Given the description of an element on the screen output the (x, y) to click on. 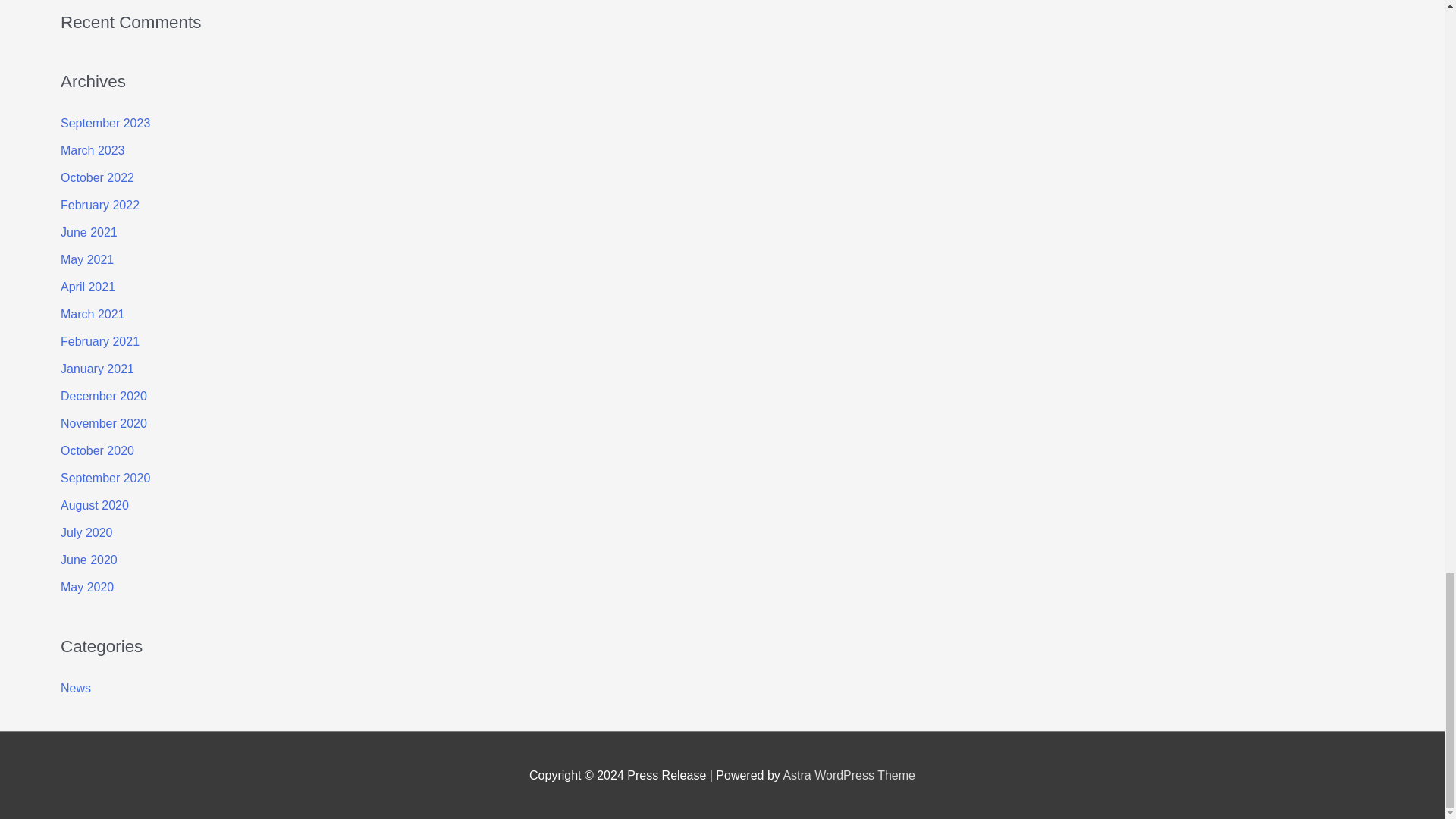
March 2021 (93, 314)
February 2022 (100, 205)
December 2020 (104, 395)
January 2021 (97, 368)
September 2023 (105, 123)
June 2021 (89, 232)
April 2021 (88, 286)
May 2021 (87, 259)
October 2022 (97, 177)
February 2021 (100, 341)
March 2023 (93, 150)
